Given the description of an element on the screen output the (x, y) to click on. 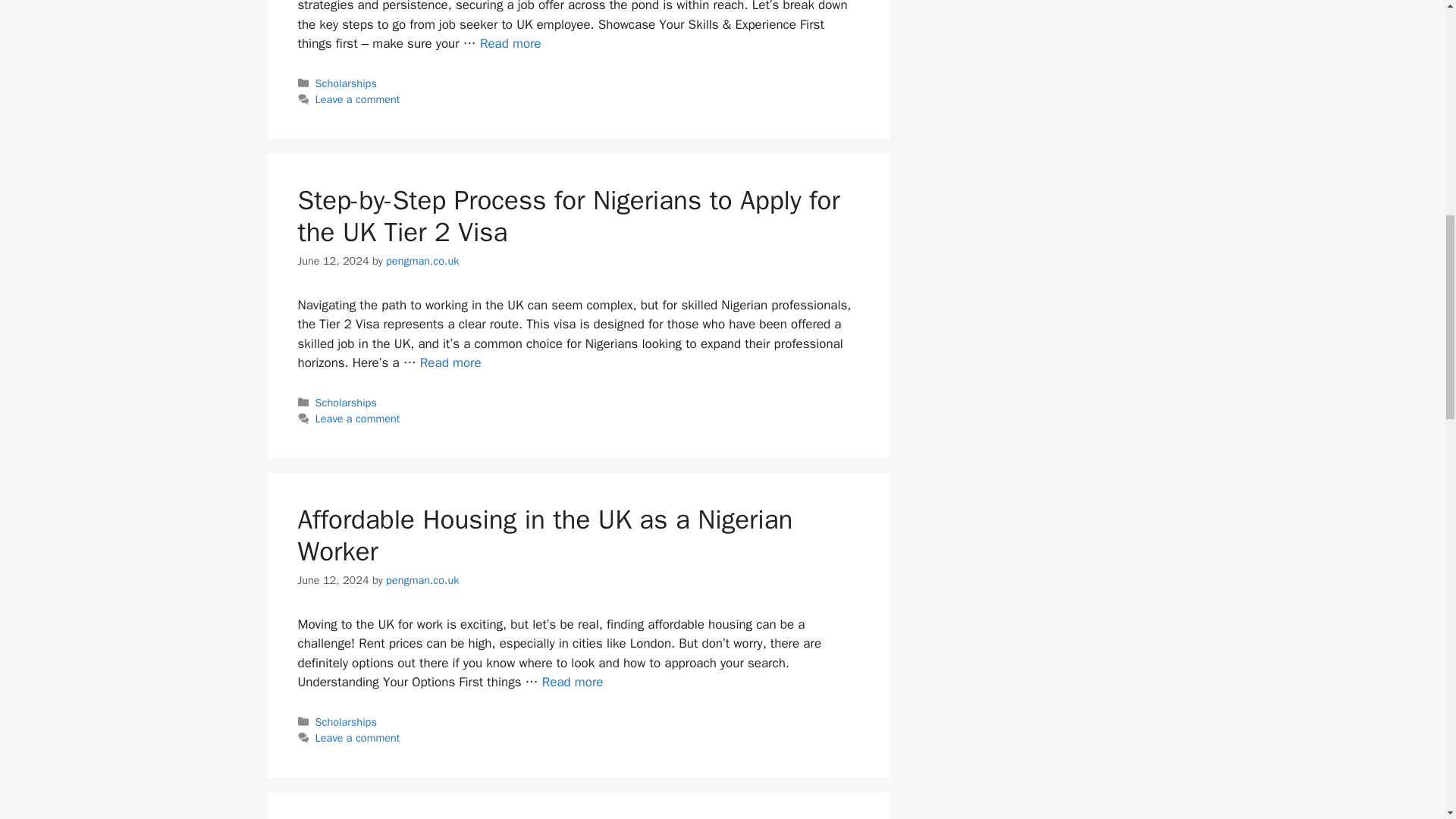
Read more (510, 43)
Read more (450, 362)
Read more (572, 682)
View all posts by pengman.co.uk (421, 580)
Leave a comment (357, 418)
Affordable Housing in the UK as a Nigerian Worker (572, 682)
How to Secure a UK Job Offer from Nigeria (510, 43)
View all posts by pengman.co.uk (421, 260)
Scholarships (346, 402)
Affordable Housing in the UK as a Nigerian Worker (544, 535)
Scholarships (346, 83)
Leave a comment (357, 99)
Scholarships (346, 721)
Leave a comment (357, 737)
